Given the description of an element on the screen output the (x, y) to click on. 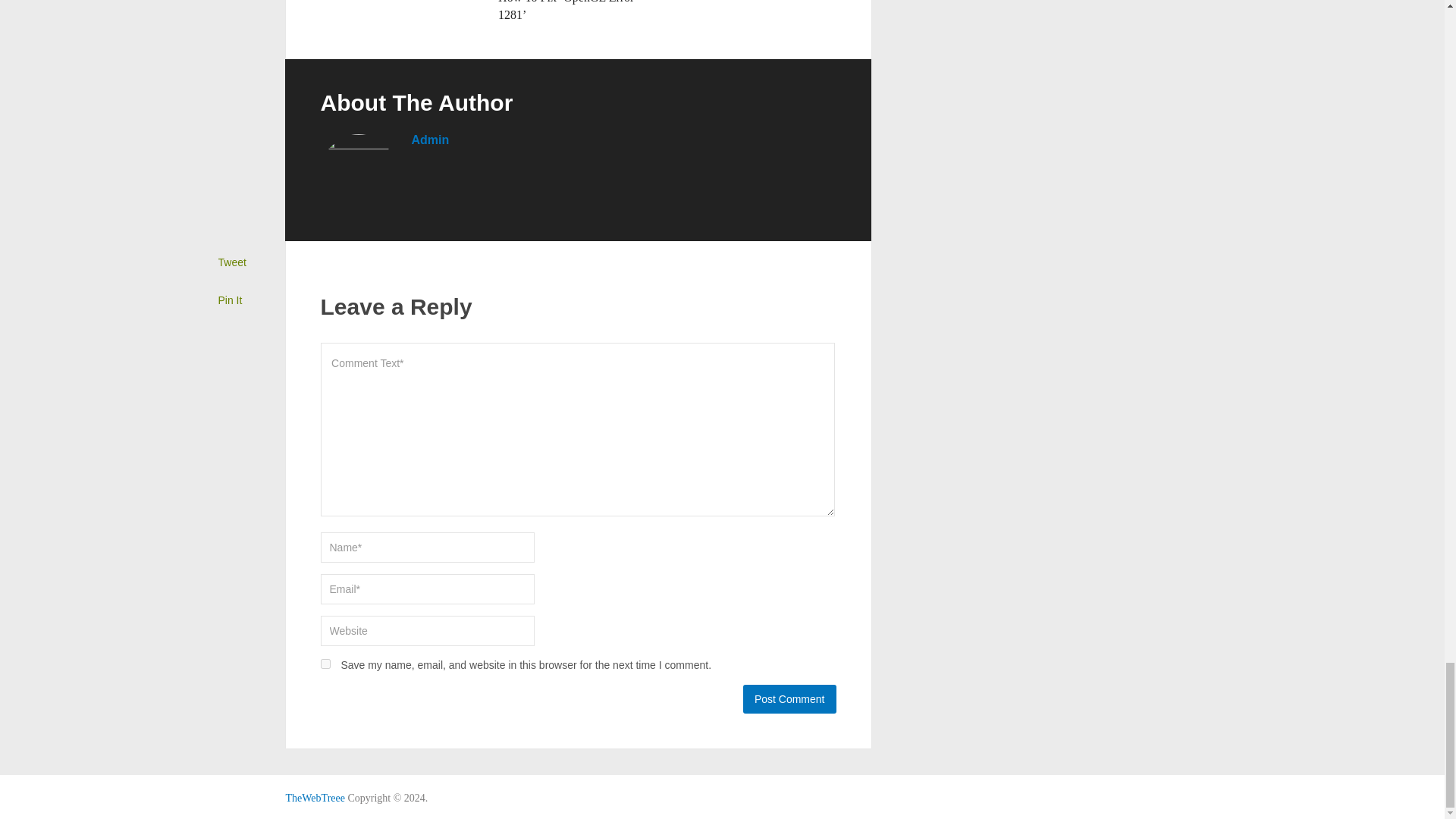
Post Comment (788, 698)
 Daily Life Blog (314, 797)
Admin (429, 139)
Post Comment (788, 698)
yes (325, 664)
